Given the description of an element on the screen output the (x, y) to click on. 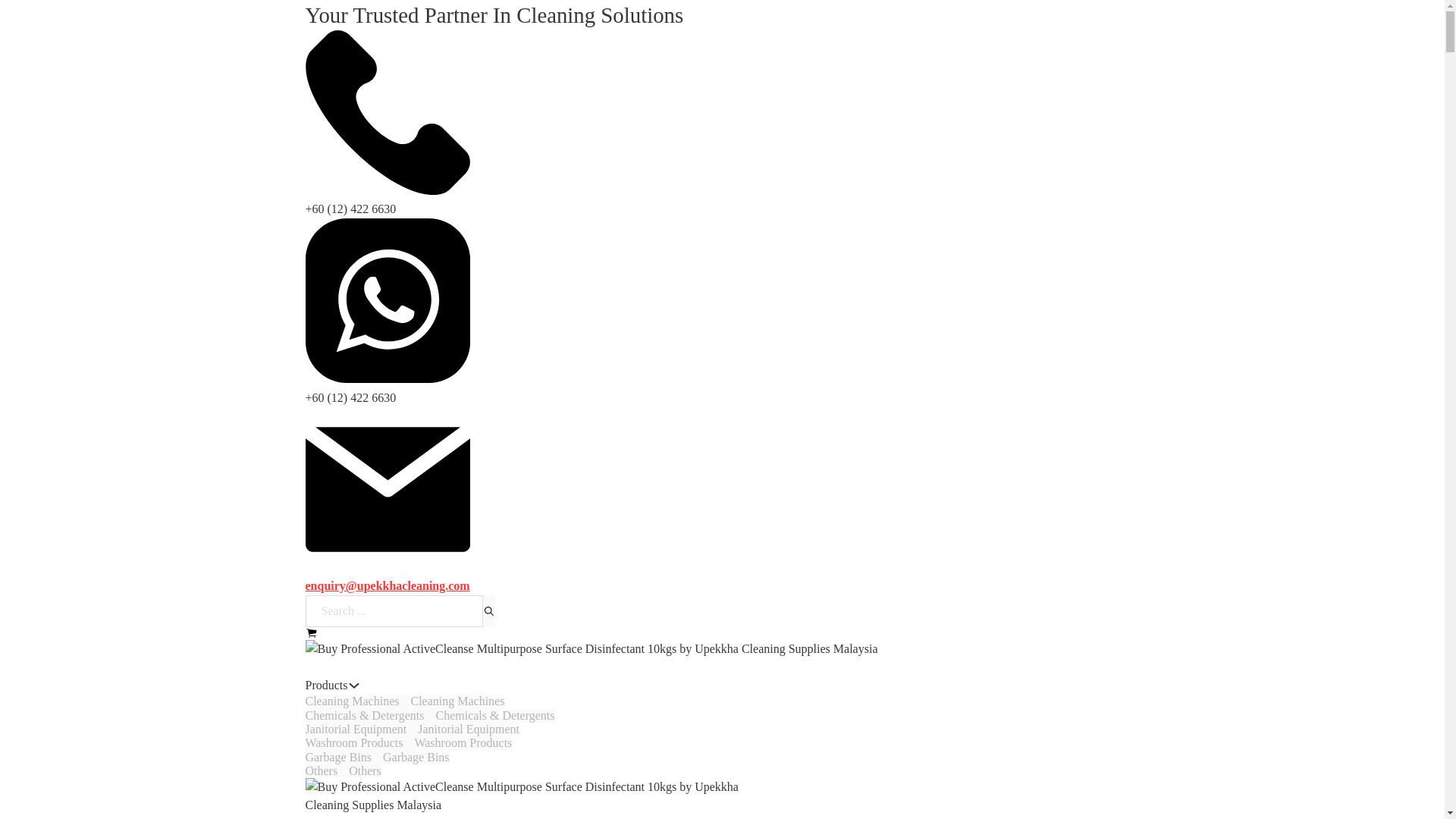
Others (365, 771)
Products (403, 701)
Washroom Products (325, 685)
Garbage Bins (376, 757)
Janitorial Equipment (462, 743)
Cleaning Machines (415, 757)
